Given the description of an element on the screen output the (x, y) to click on. 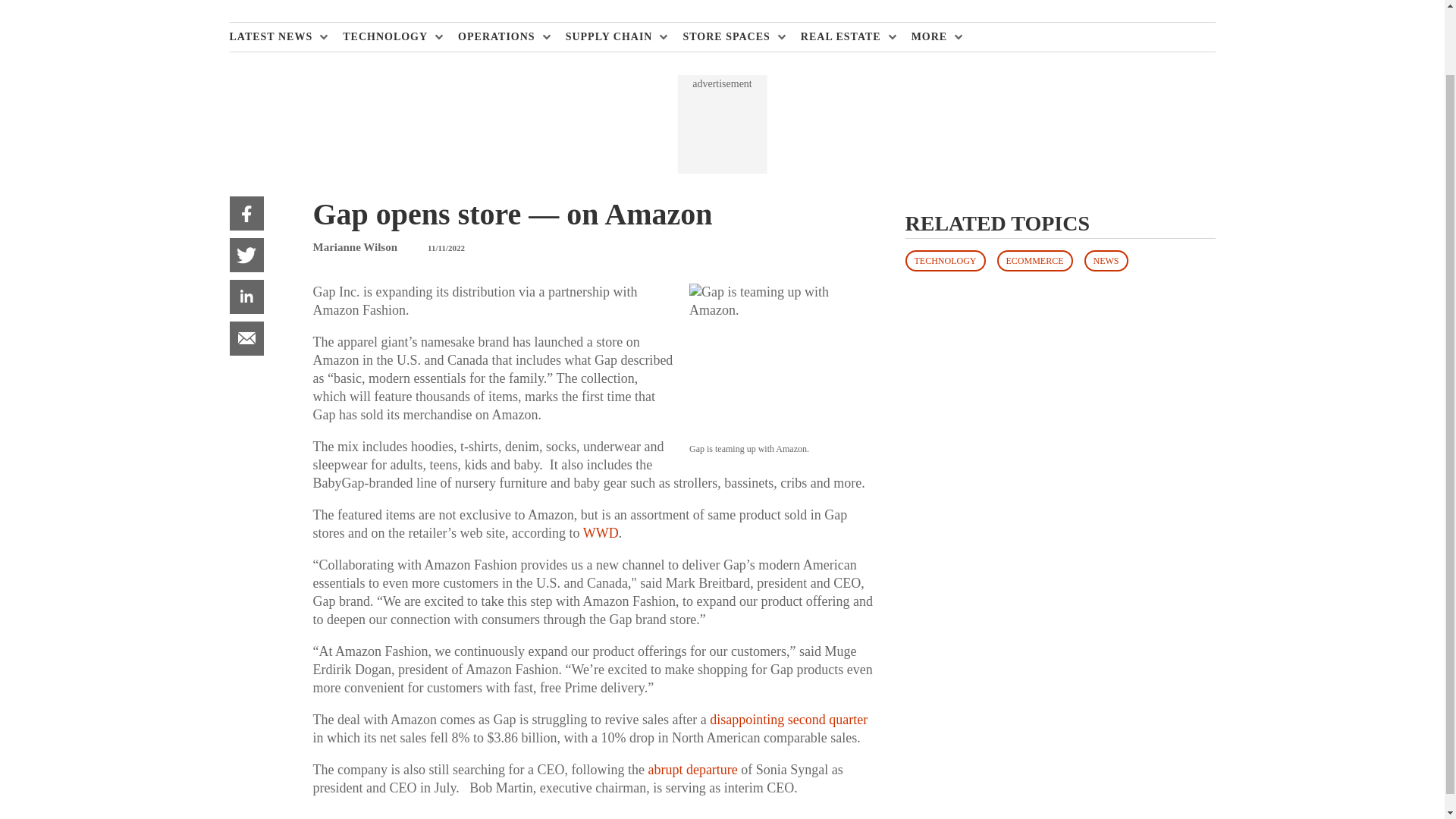
facebook (245, 213)
twitter (245, 254)
LATEST NEWS (274, 36)
TECHNOLOGY (388, 36)
STORE SPACES (729, 36)
email (245, 338)
SUPPLY CHAIN (613, 36)
linkedIn (245, 296)
OPERATIONS (500, 36)
